Given the description of an element on the screen output the (x, y) to click on. 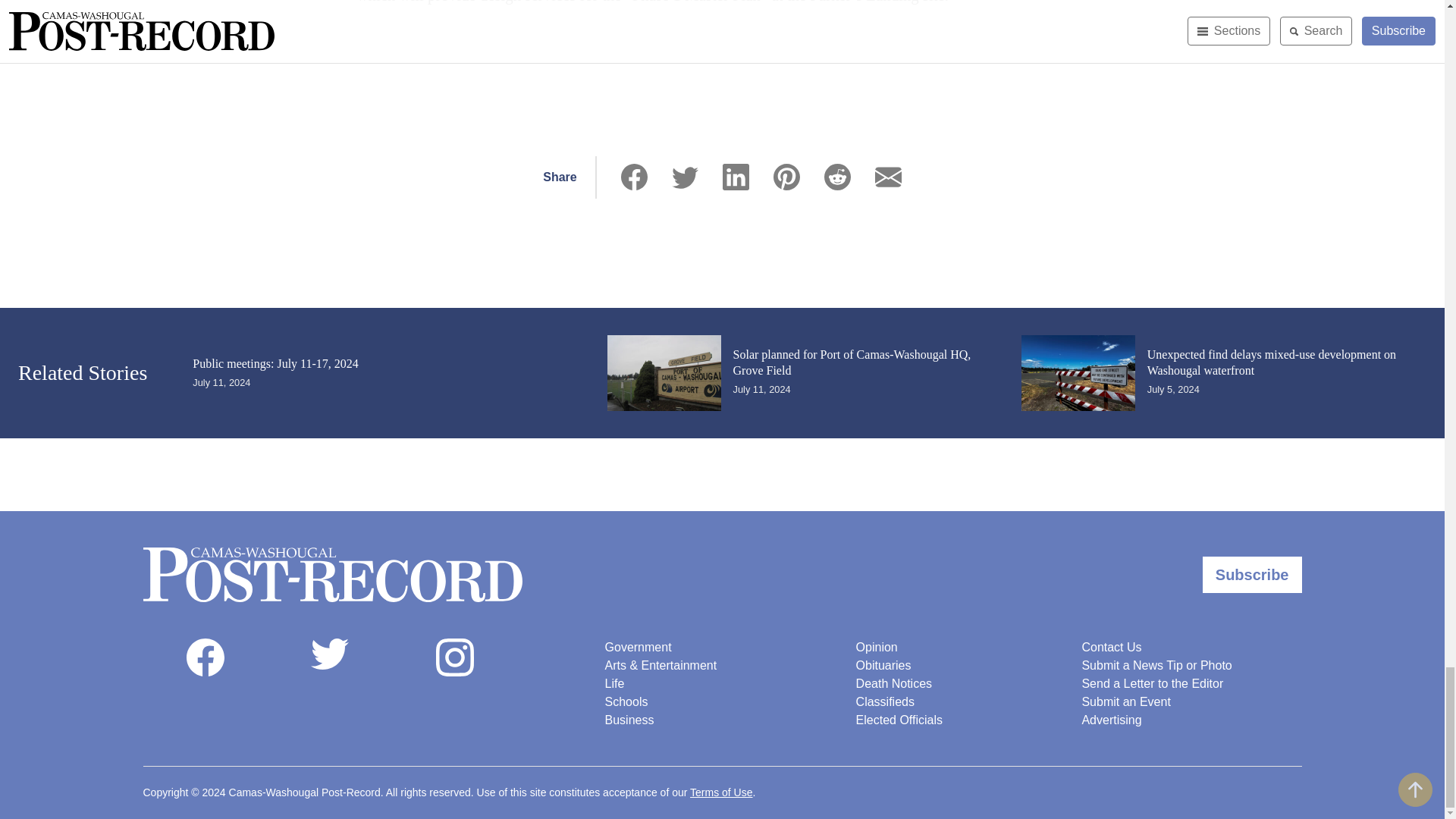
Share on Email (888, 176)
Share on Facebook (634, 176)
Share on Reddit (837, 176)
Share on Twitter (684, 176)
Share on Pinterest (786, 176)
Share on LinkedIn (735, 176)
